Given the description of an element on the screen output the (x, y) to click on. 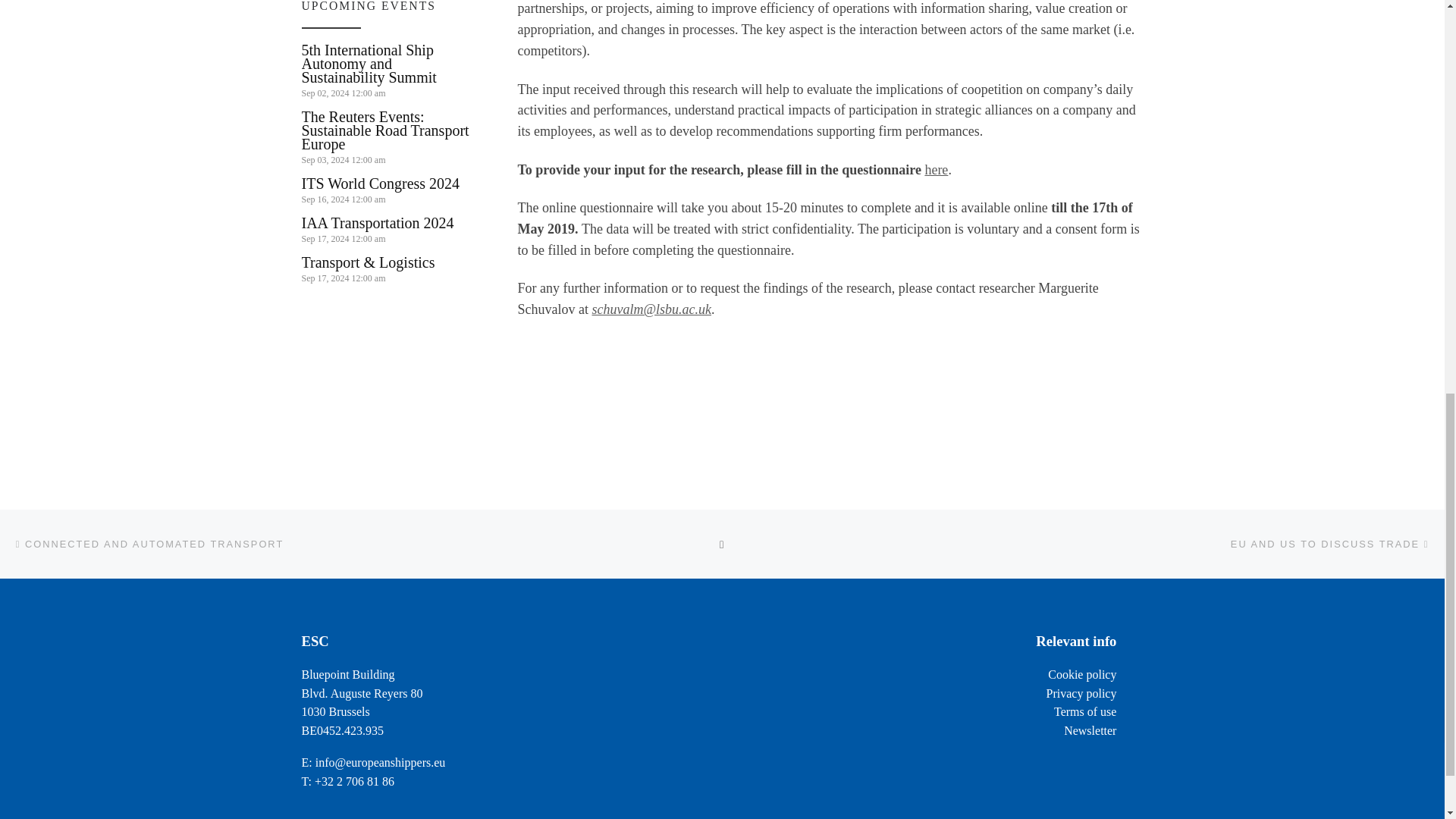
Back to post list (722, 544)
